Given the description of an element on the screen output the (x, y) to click on. 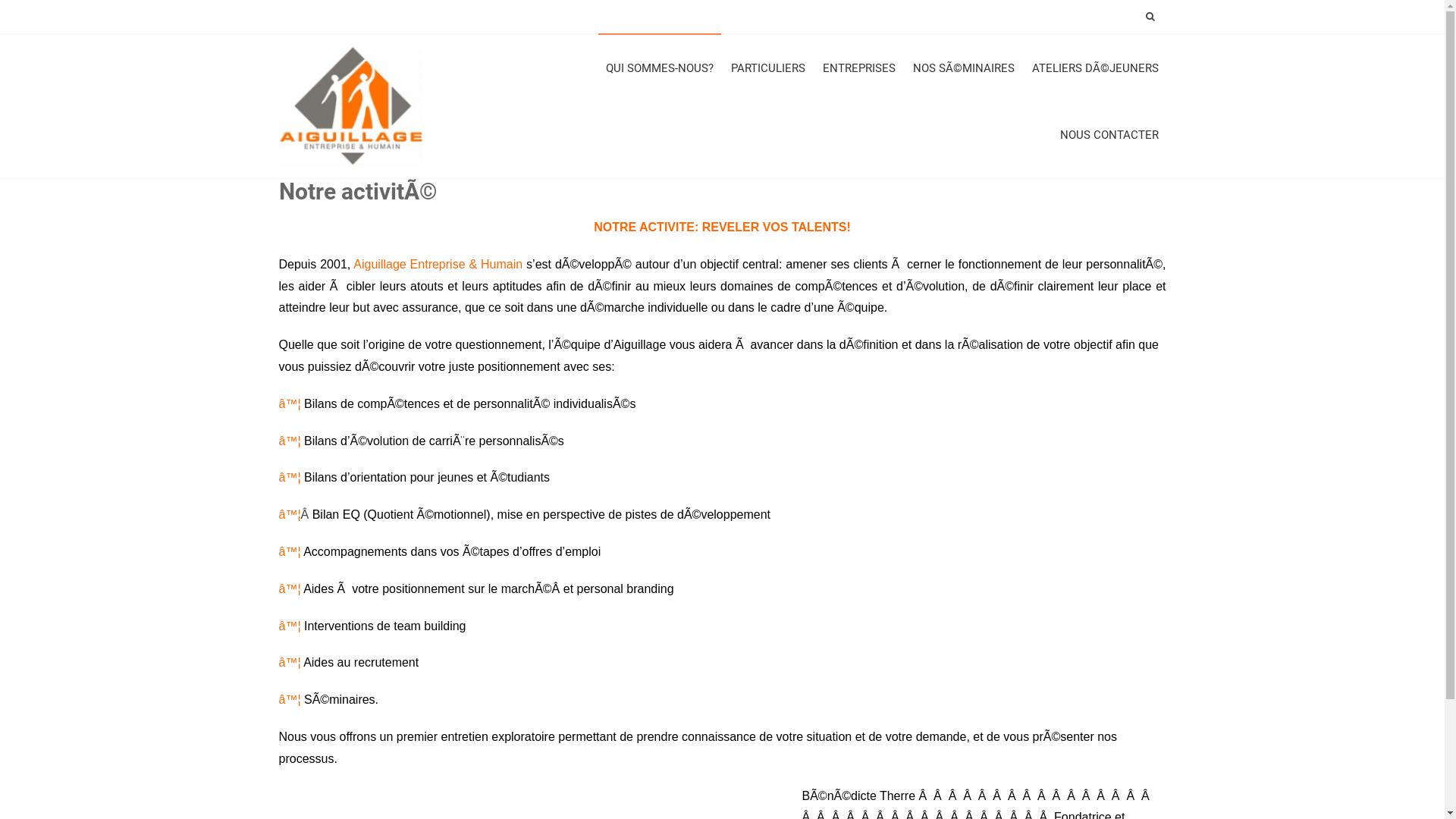
NOUS CONTACTER Element type: text (1109, 134)
ENTREPRISES Element type: text (858, 67)
QUI SOMMES-NOUS? Element type: text (658, 67)
PARTICULIERS Element type: text (767, 67)
